Given the description of an element on the screen output the (x, y) to click on. 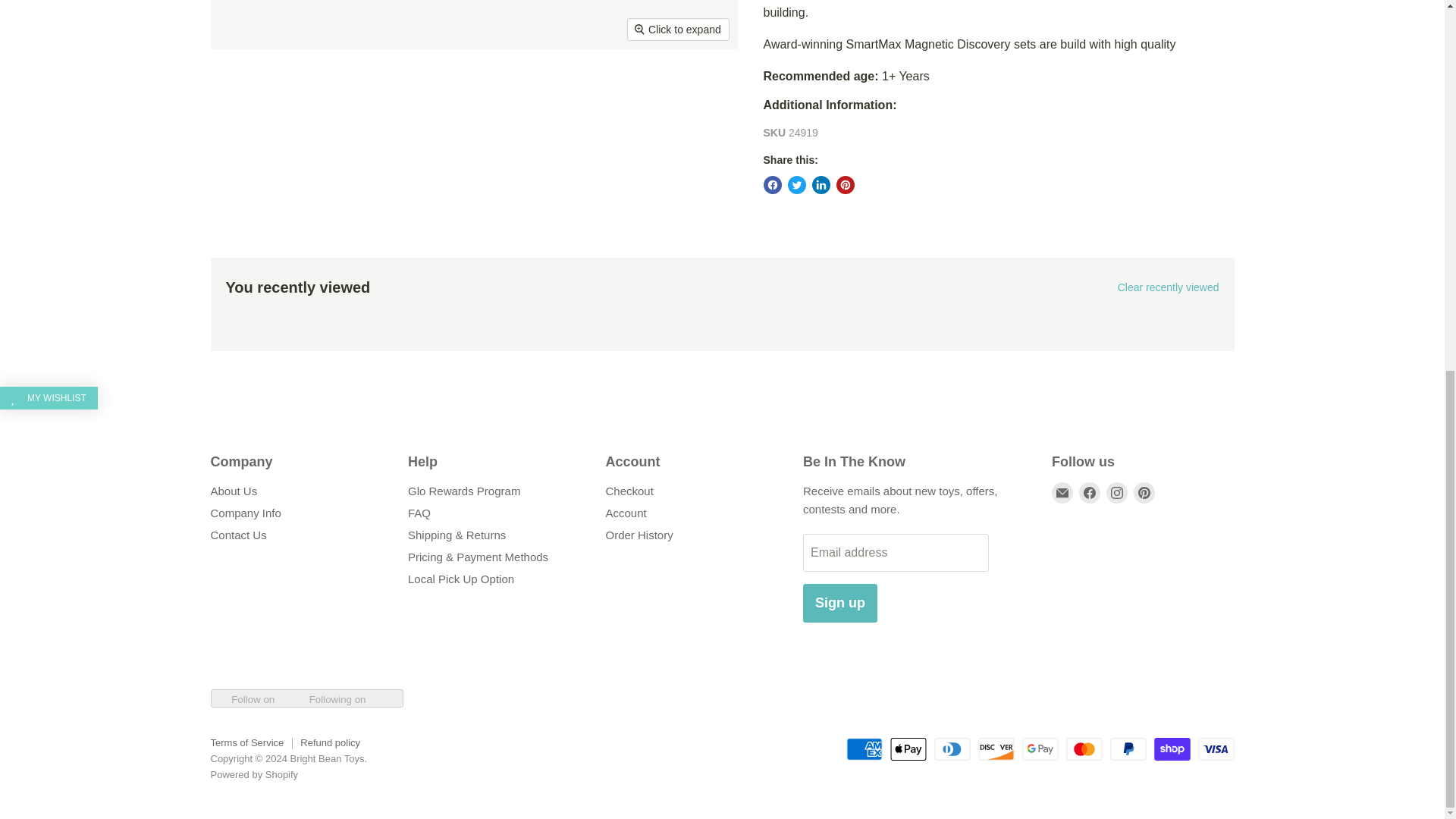
Pinterest (1144, 492)
Email (1062, 492)
Facebook (1089, 492)
Instagram (1116, 492)
